Given the description of an element on the screen output the (x, y) to click on. 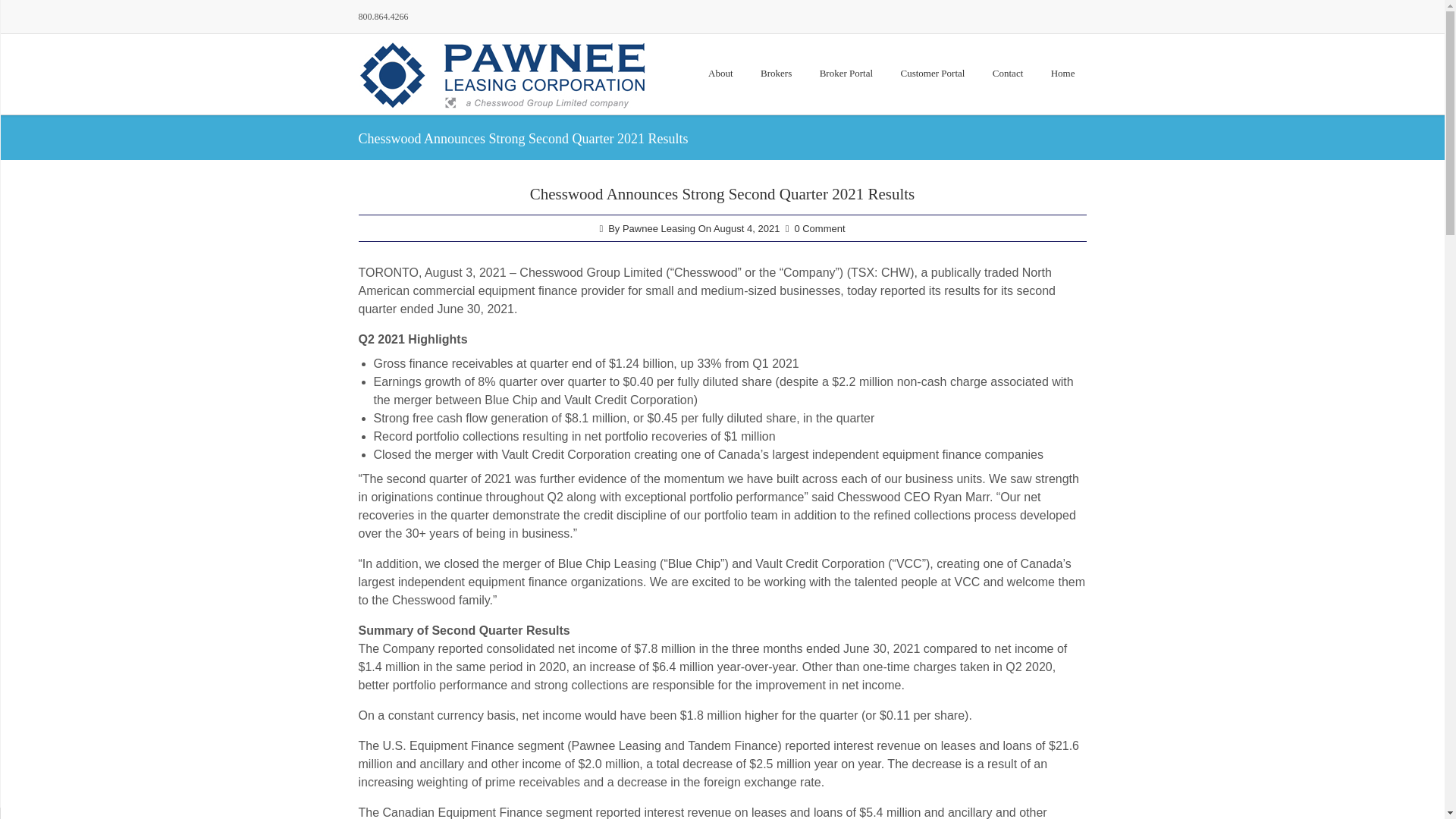
Broker Portal (845, 73)
Brokers (776, 73)
Customer Portal (932, 73)
0 Comment (818, 228)
Home (1062, 73)
Contact (1007, 73)
Chesswood Announces Strong Second Quarter 2021 Results (721, 194)
Chesswood Announces Strong Second Quarter 2021 Results (721, 194)
About (720, 73)
Pawnee Leasing (659, 228)
